Given the description of an element on the screen output the (x, y) to click on. 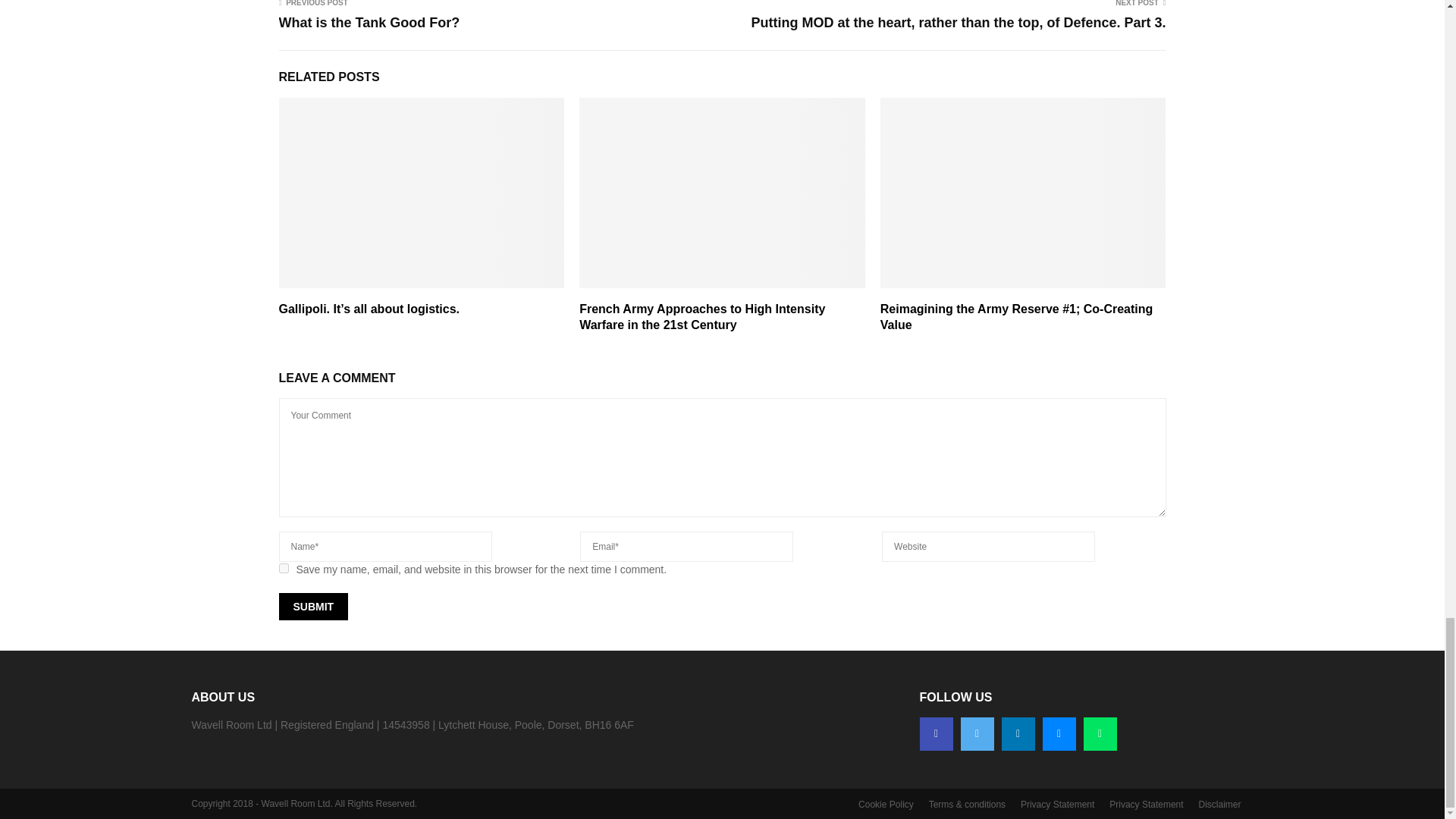
yes (283, 568)
Submit (314, 605)
